Given the description of an element on the screen output the (x, y) to click on. 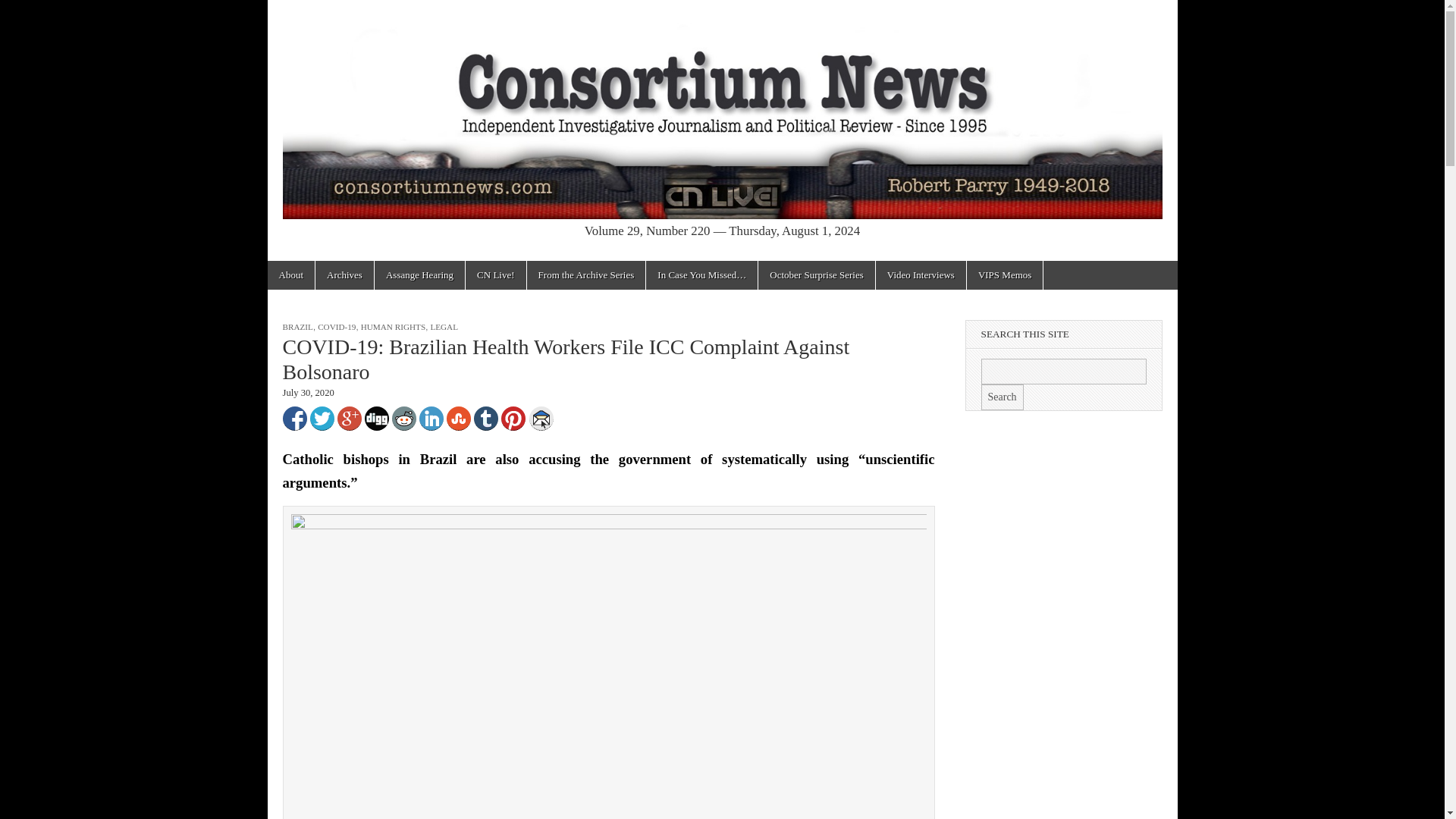
Share to LinkedIn (430, 418)
VIPS Memos (1004, 275)
Share to Twitter (320, 418)
LEGAL (443, 326)
HUMAN RIGHTS (393, 326)
CN Live! (495, 275)
October Surprise Series (816, 275)
Assange Hearing (419, 275)
Share to Google Plus (348, 418)
Share to Digg (376, 418)
Share to Facebook (293, 418)
Search (1002, 397)
Share to Tumblr (485, 418)
